Given the description of an element on the screen output the (x, y) to click on. 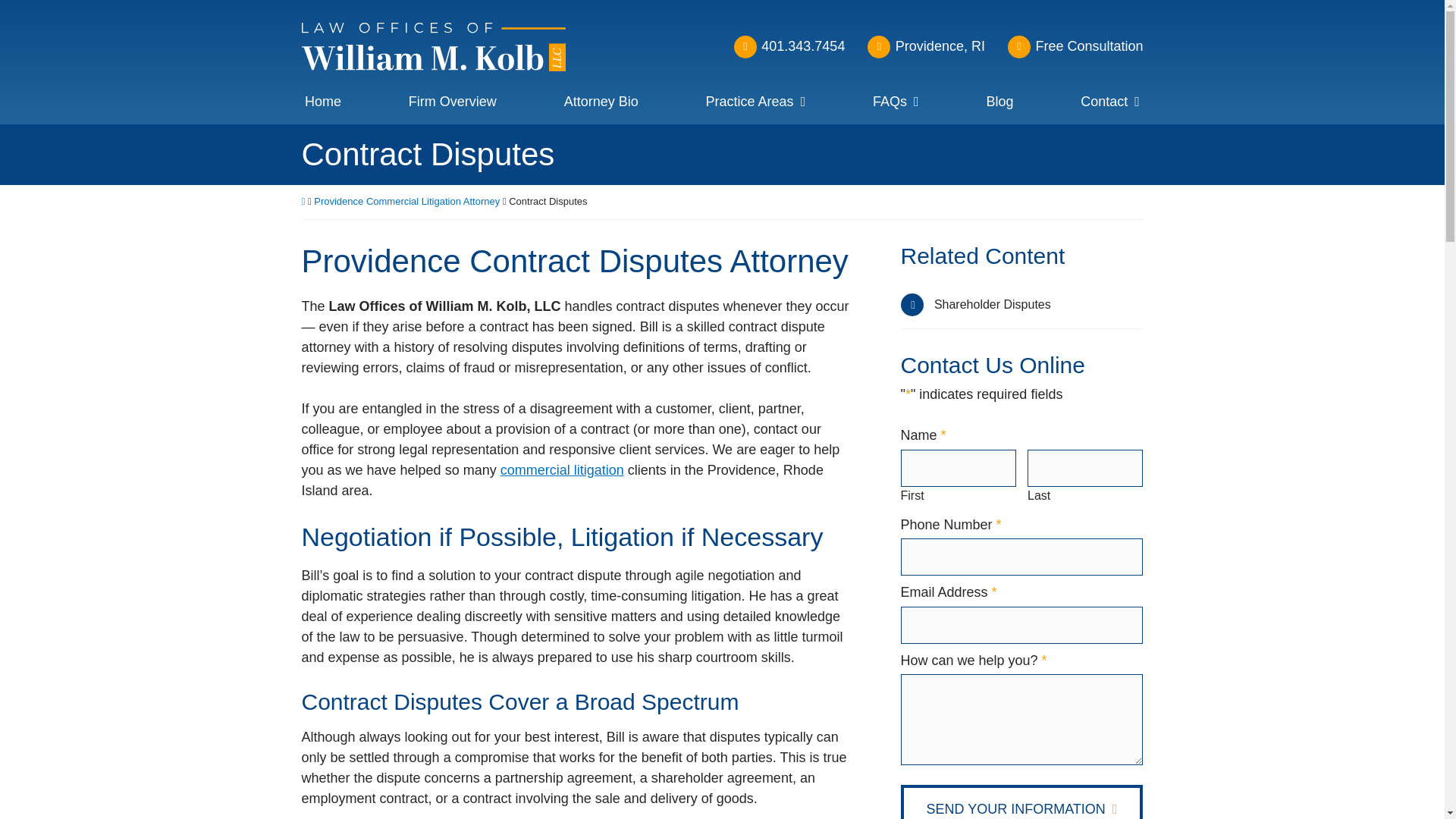
Attorney Bio (601, 105)
Blog (999, 105)
Contact (1109, 105)
Shareholder Disputes (1021, 304)
Providence Commercial Litigation Attorney (406, 201)
401.343.7454 (789, 47)
Firm Overview (451, 105)
FAQs (896, 105)
commercial litigation (562, 469)
SEND YOUR INFORMATION (1021, 801)
